Given the description of an element on the screen output the (x, y) to click on. 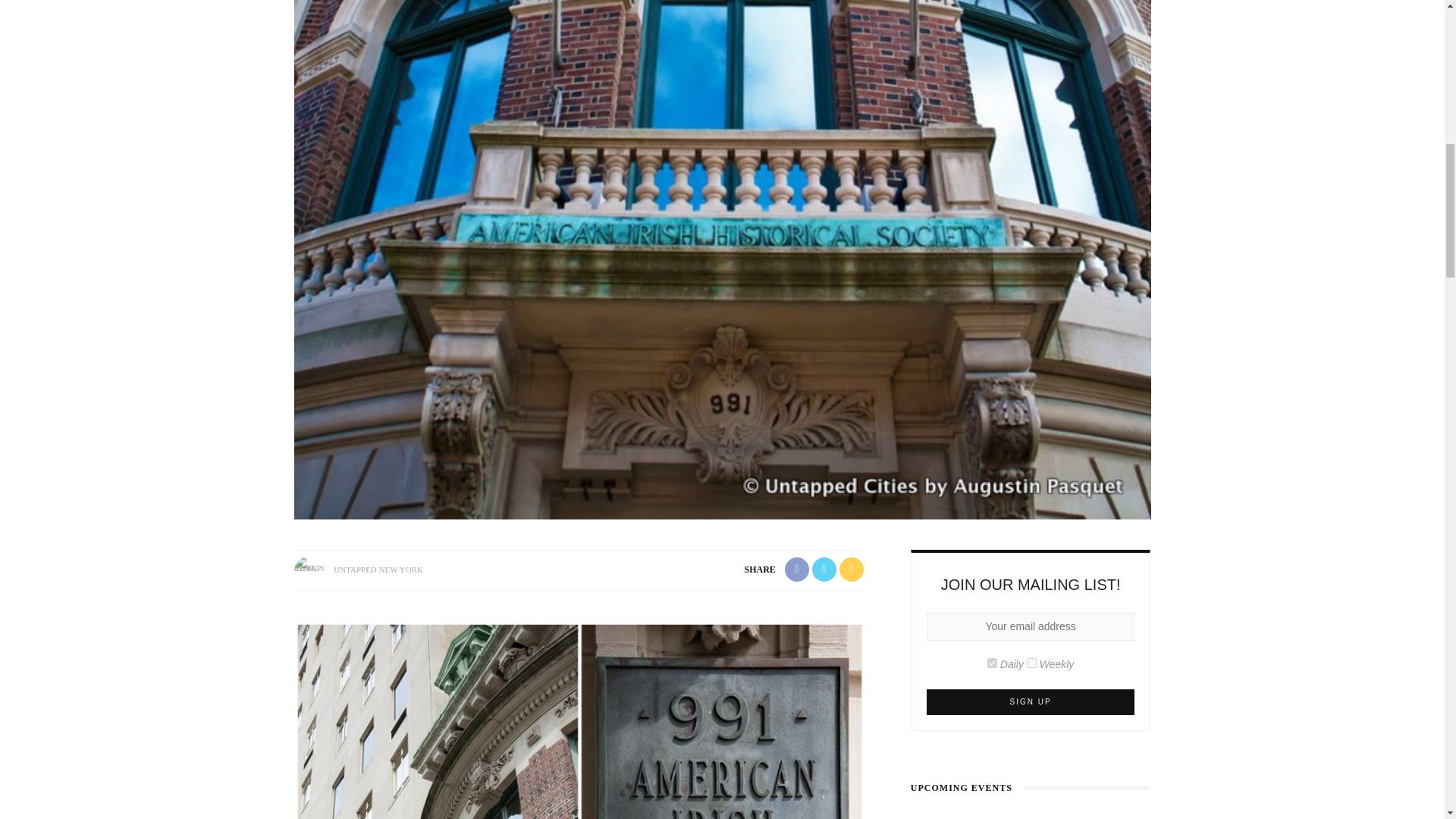
e99a09560c (992, 663)
FareHarbor (1342, 64)
Sign up (1030, 701)
7cff6a70fd (1031, 663)
